Given the description of an element on the screen output the (x, y) to click on. 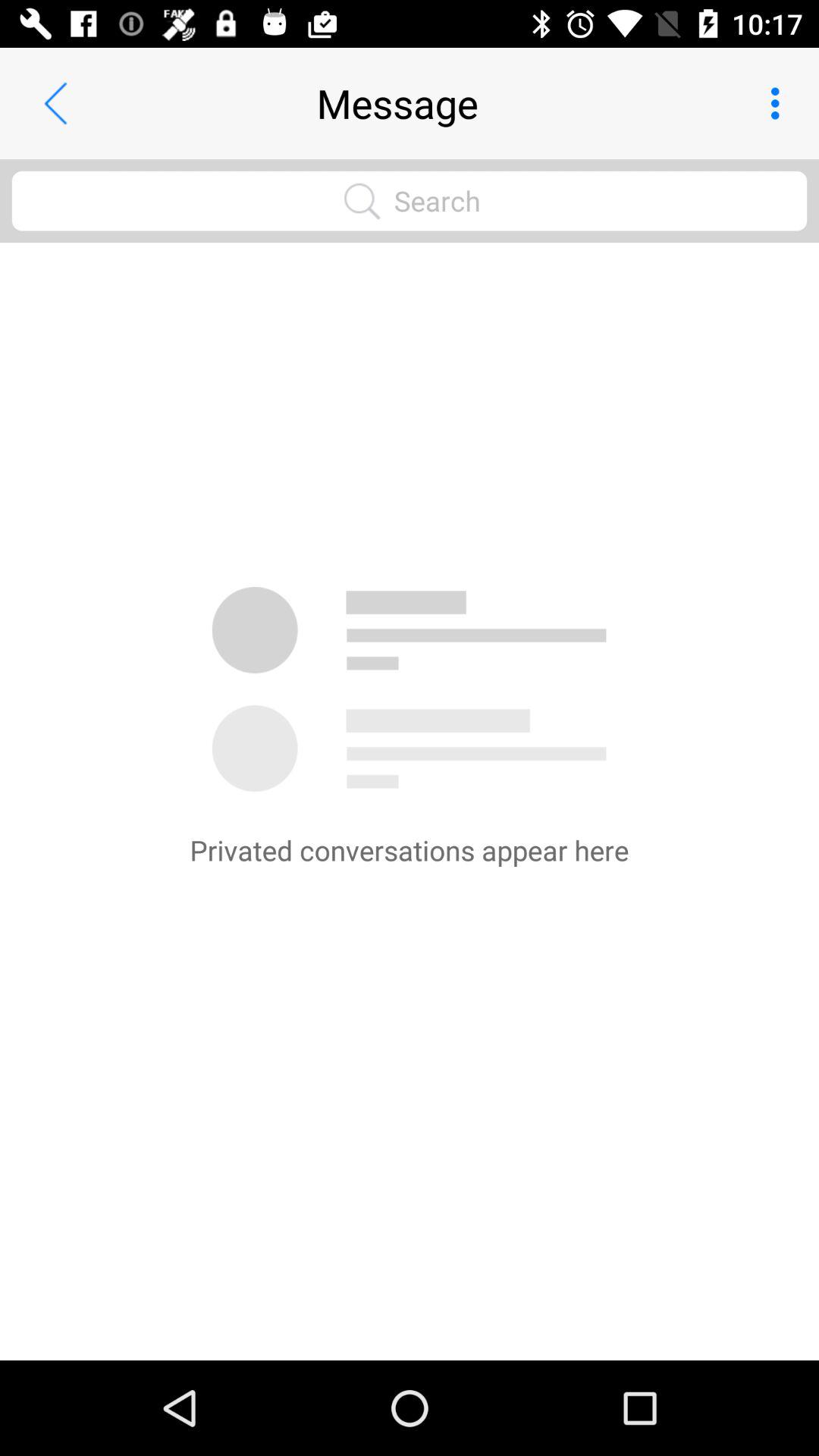
launch item to the right of message app (779, 103)
